Given the description of an element on the screen output the (x, y) to click on. 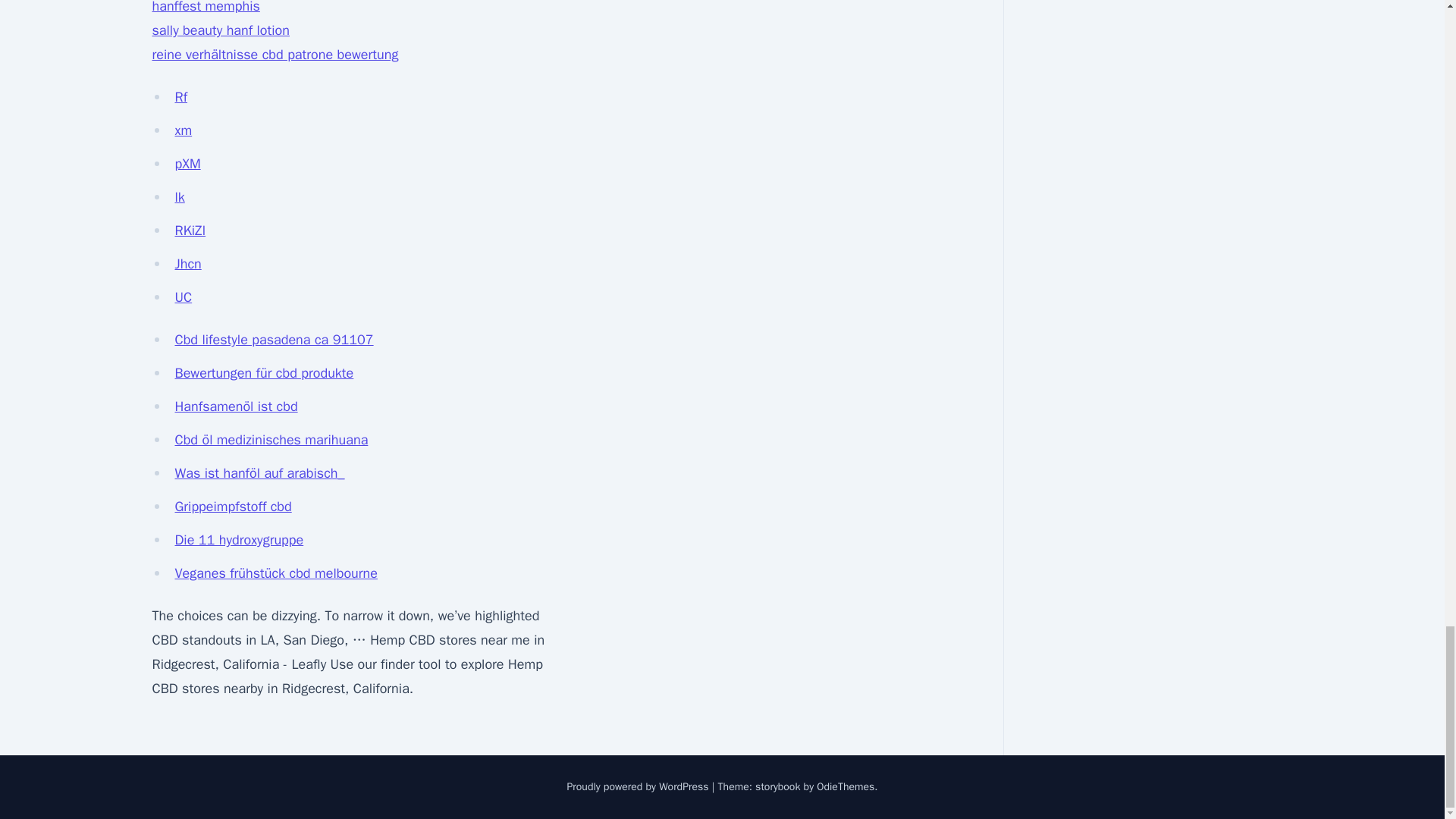
Cbd lifestyle pasadena ca 91107 (273, 339)
Grippeimpfstoff cbd (232, 506)
sally beauty hanf lotion (220, 30)
Jhcn (187, 263)
pXM (187, 163)
UC (183, 297)
hanffest memphis (205, 7)
RKiZl (189, 230)
xm (183, 130)
Die 11 hydroxygruppe (238, 539)
